Given the description of an element on the screen output the (x, y) to click on. 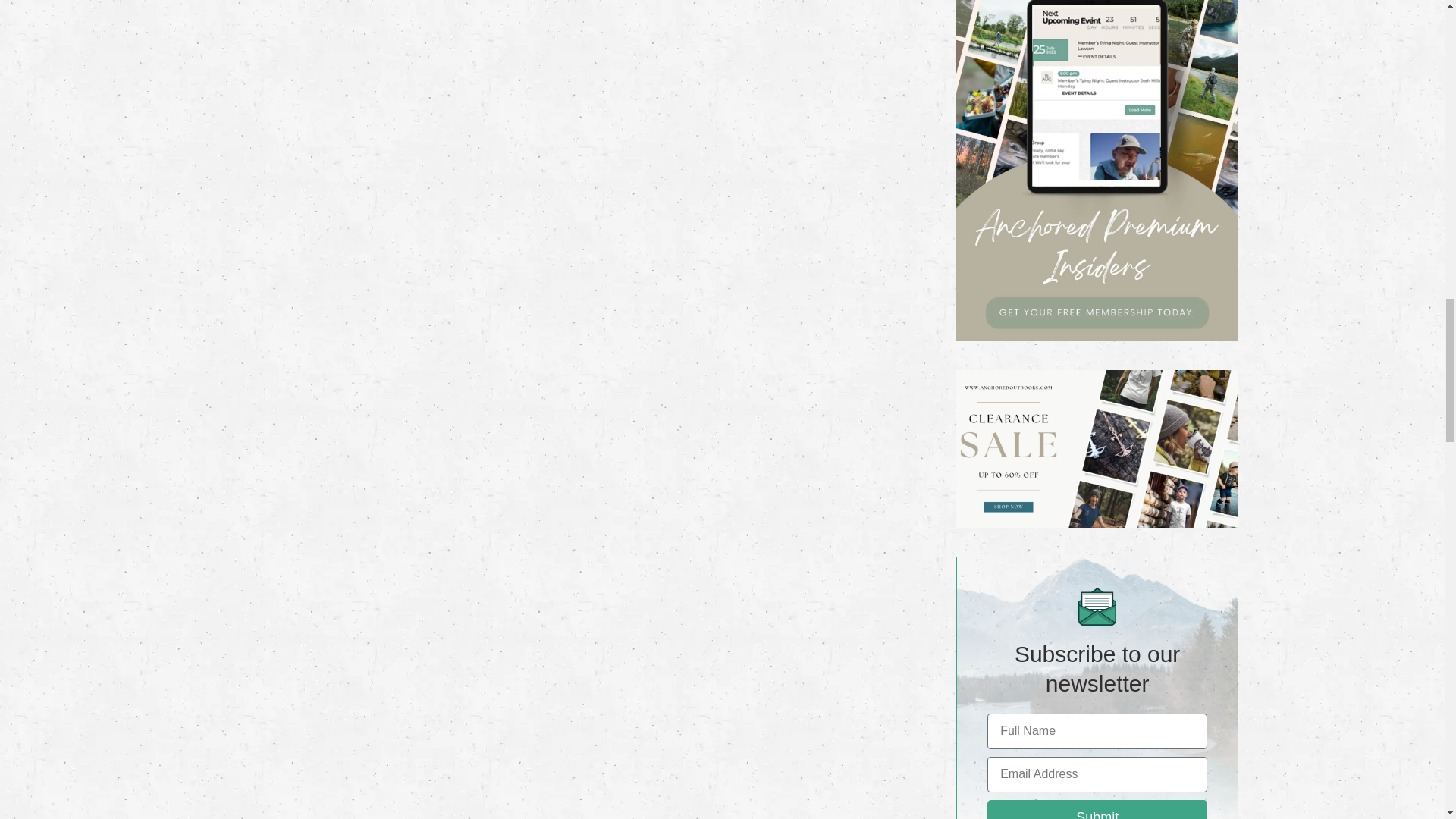
Submit (1097, 809)
